Given the description of an element on the screen output the (x, y) to click on. 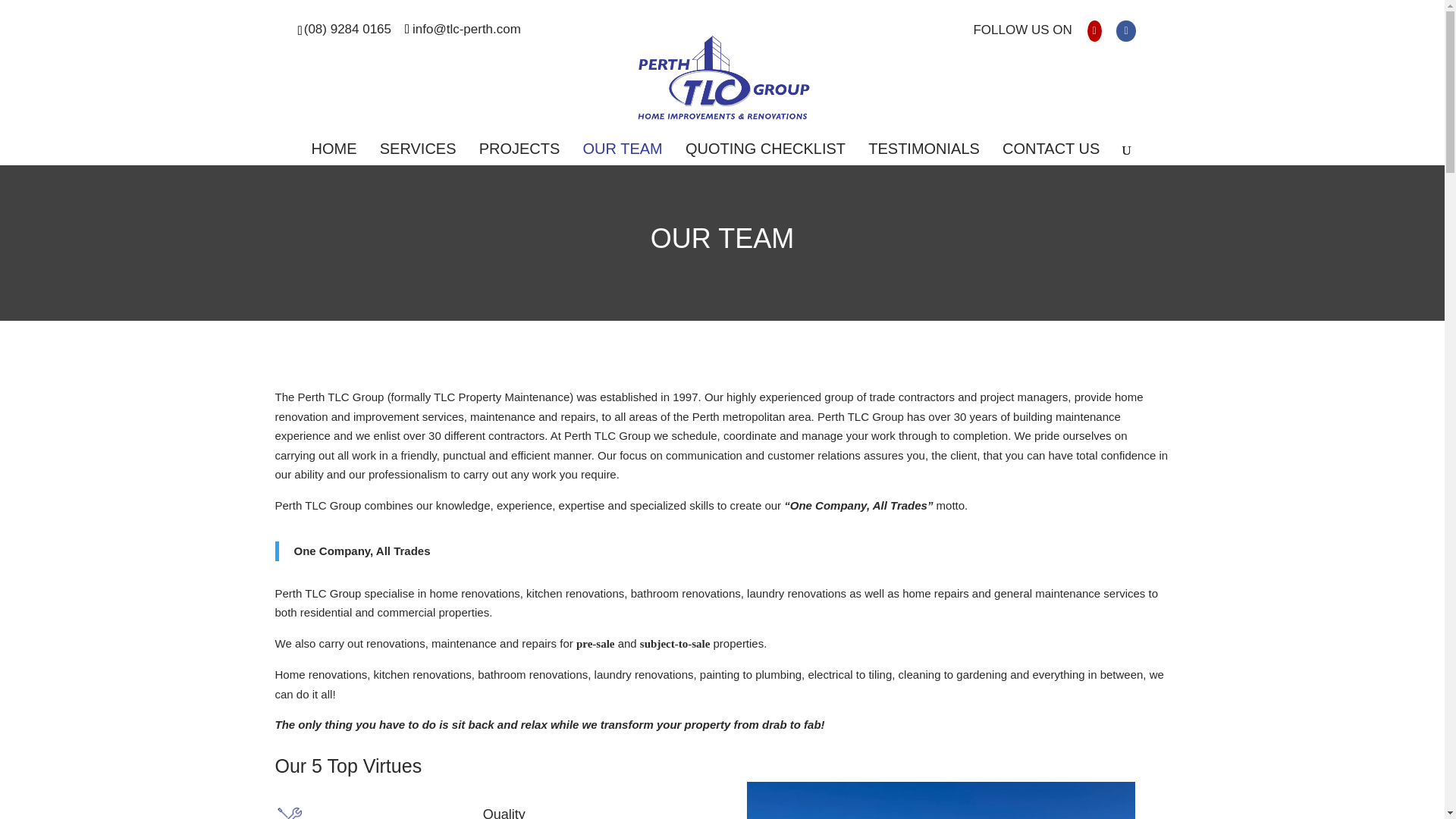
PROJECTS (519, 154)
FOLLOW US ON (1021, 34)
SERVICES (418, 154)
OUR TEAM (622, 154)
HOME (333, 154)
TESTIMONIALS (923, 154)
QUOTING CHECKLIST (765, 154)
CONTACT US (1051, 154)
TLCFleet (940, 800)
